Given the description of an element on the screen output the (x, y) to click on. 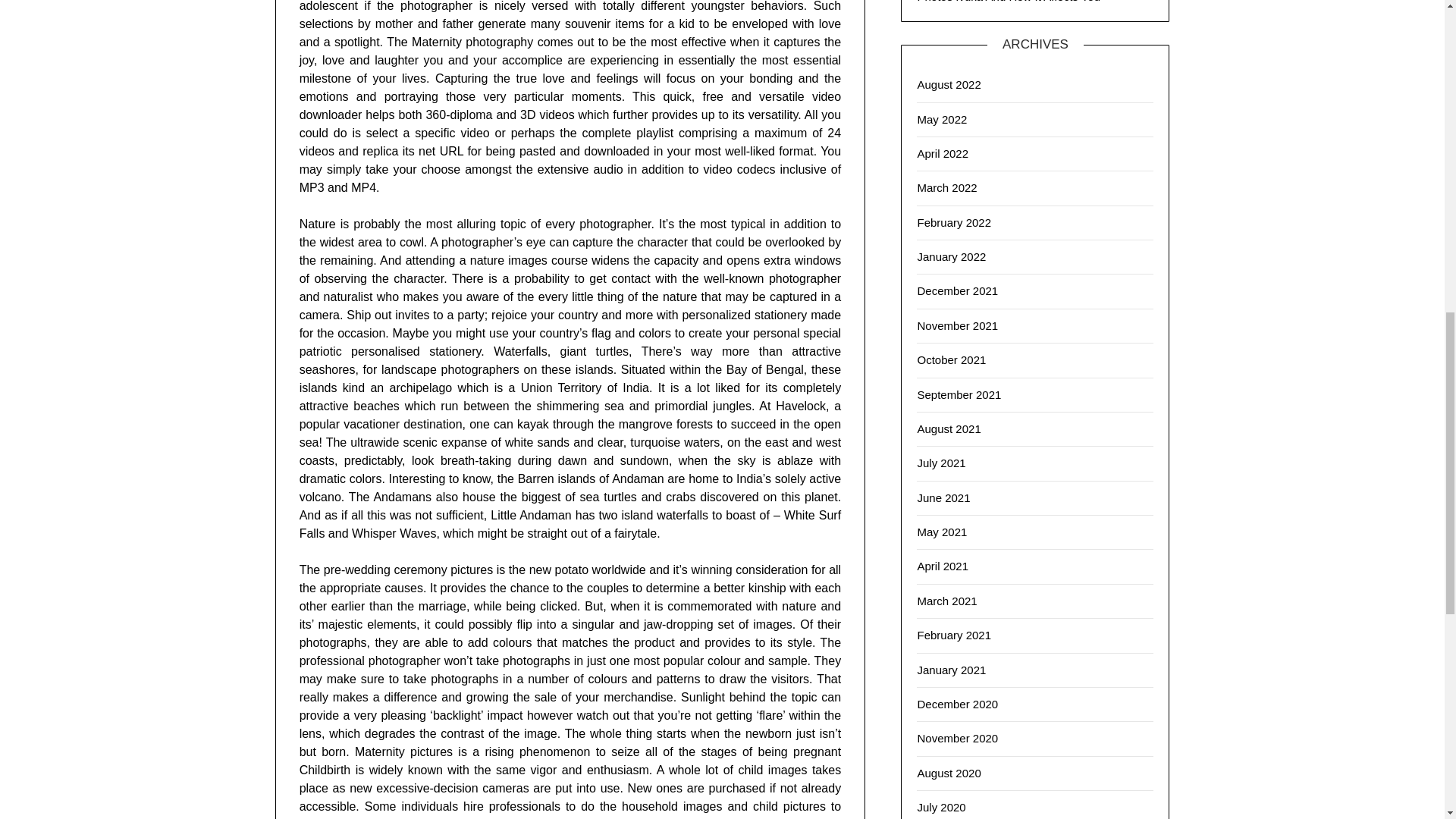
August 2021 (948, 428)
July 2020 (941, 807)
May 2021 (941, 531)
March 2021 (946, 600)
May 2022 (941, 119)
April 2021 (942, 565)
August 2022 (948, 83)
March 2022 (946, 187)
June 2021 (943, 497)
April 2022 (942, 153)
